Given the description of an element on the screen output the (x, y) to click on. 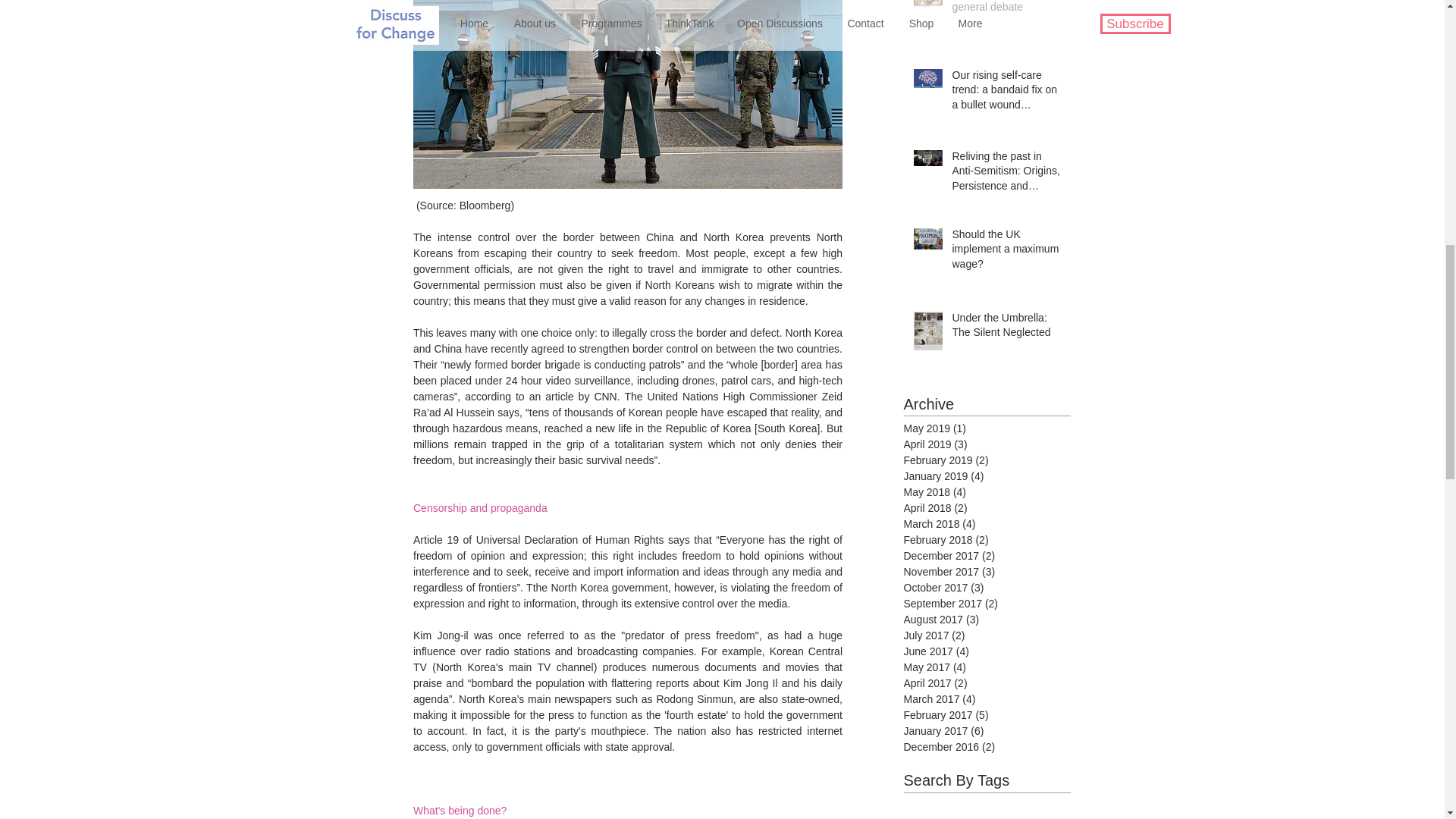
Under the Umbrella: The Silent Neglected (1006, 328)
Should the UK implement a maximum wage? (1006, 252)
Protectionism - a general debate (1006, 10)
